Given the description of an element on the screen output the (x, y) to click on. 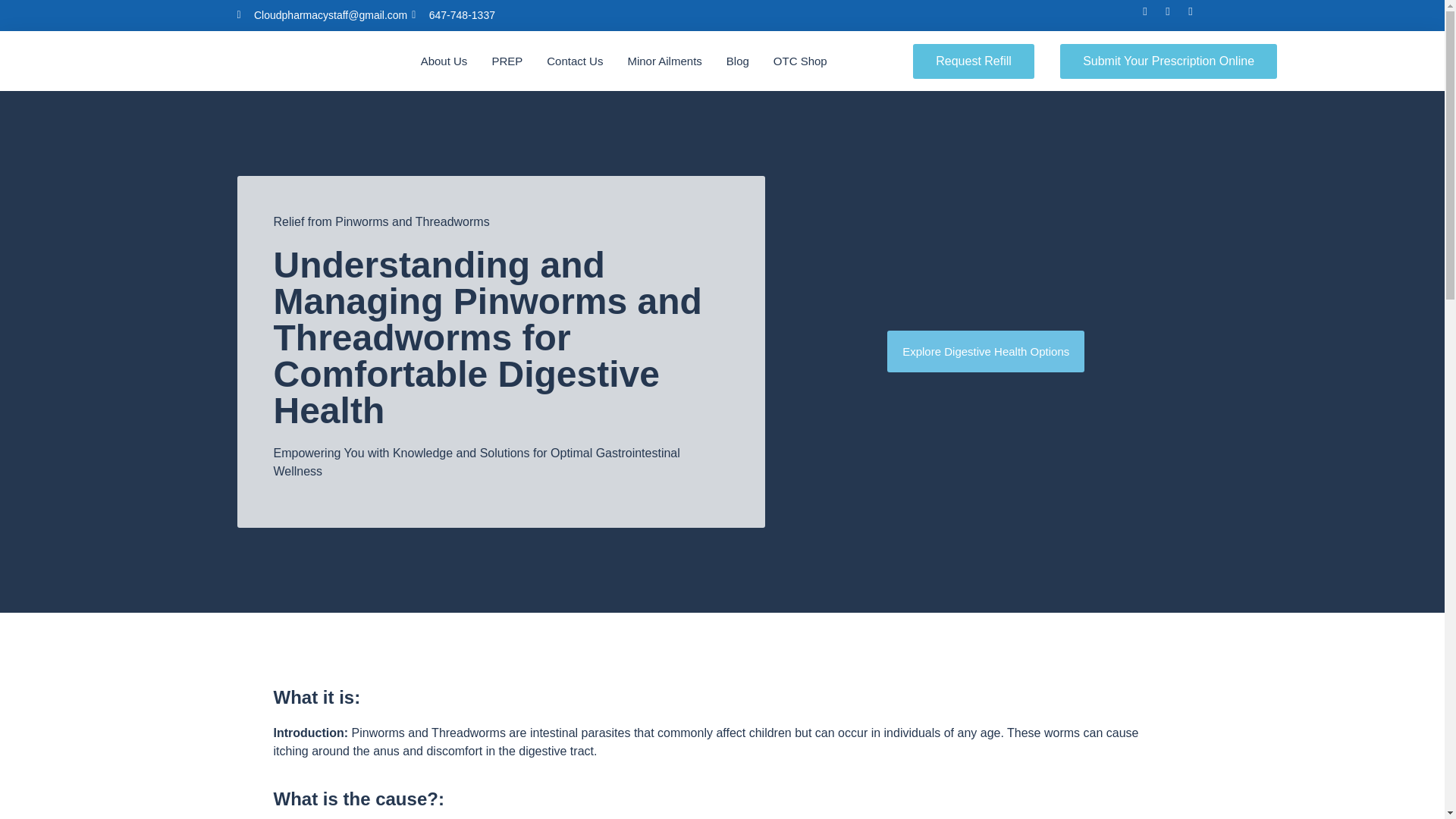
OTC Shop (800, 60)
About Us (443, 60)
Contact Us (574, 60)
Minor Ailments (664, 60)
